Given the description of an element on the screen output the (x, y) to click on. 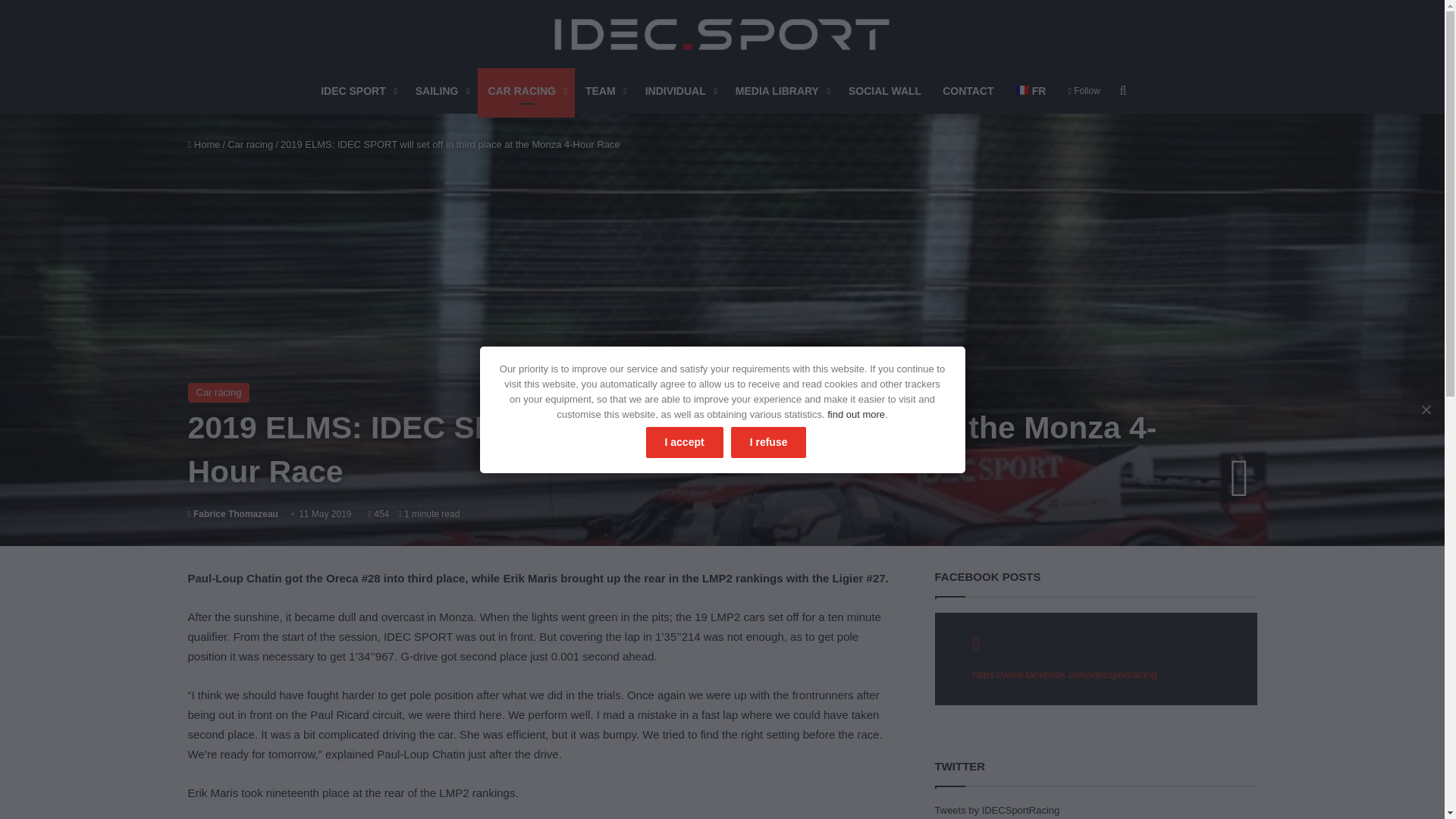
CAR RACING (526, 90)
TEAM (604, 90)
FR (1030, 90)
MEDIA LIBRARY (781, 90)
IDEC SPORT (722, 33)
IDEC SPORT (357, 90)
INDIVIDUAL (679, 90)
SAILING (440, 90)
Fabrice Thomazeau (232, 513)
